Given the description of an element on the screen output the (x, y) to click on. 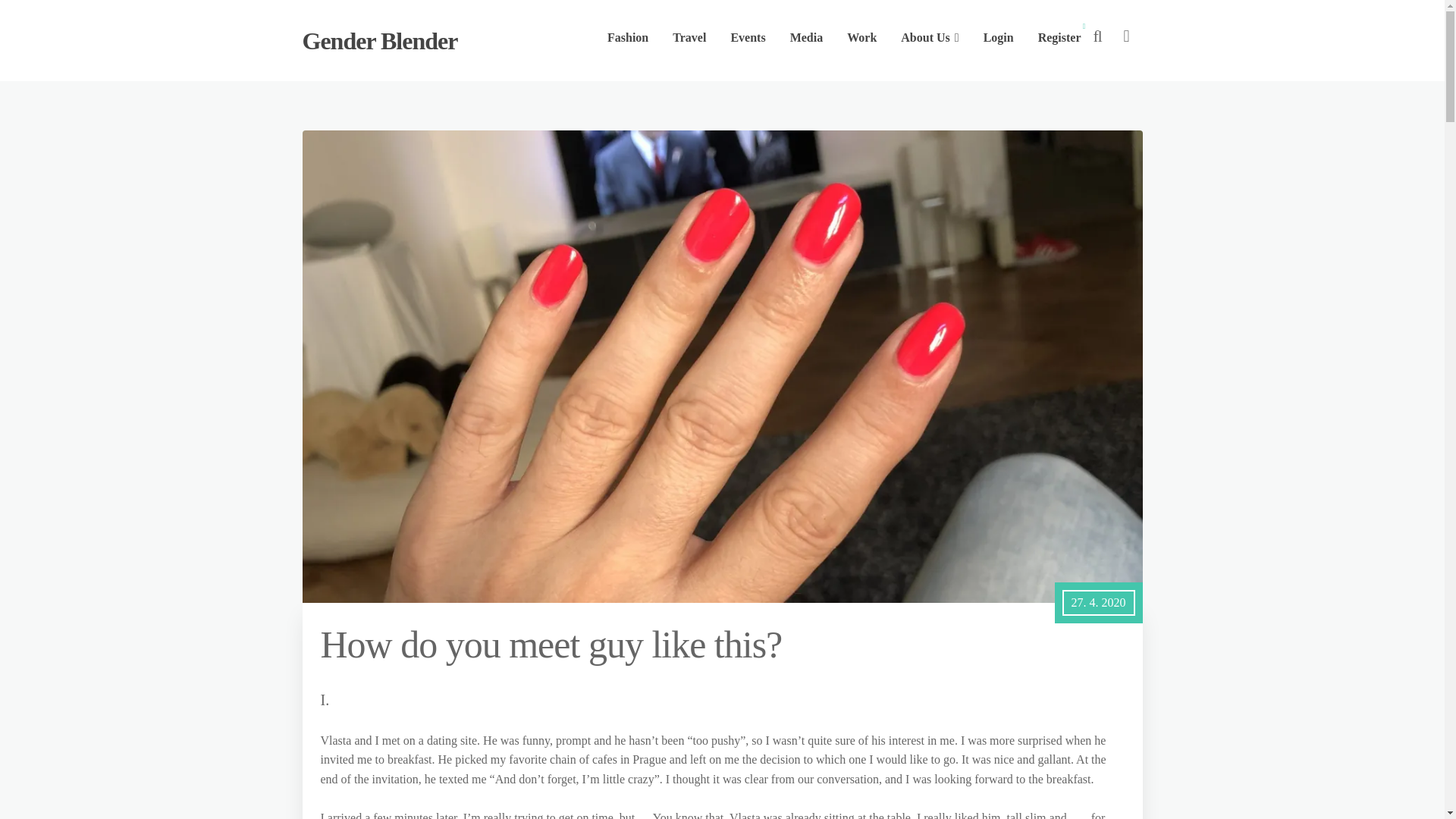
Work (861, 37)
Travel (689, 37)
Gender Blender (379, 40)
Events (747, 37)
About Us (929, 37)
Fashion (628, 37)
Register (1059, 37)
Login (998, 37)
Media (806, 37)
